Given the description of an element on the screen output the (x, y) to click on. 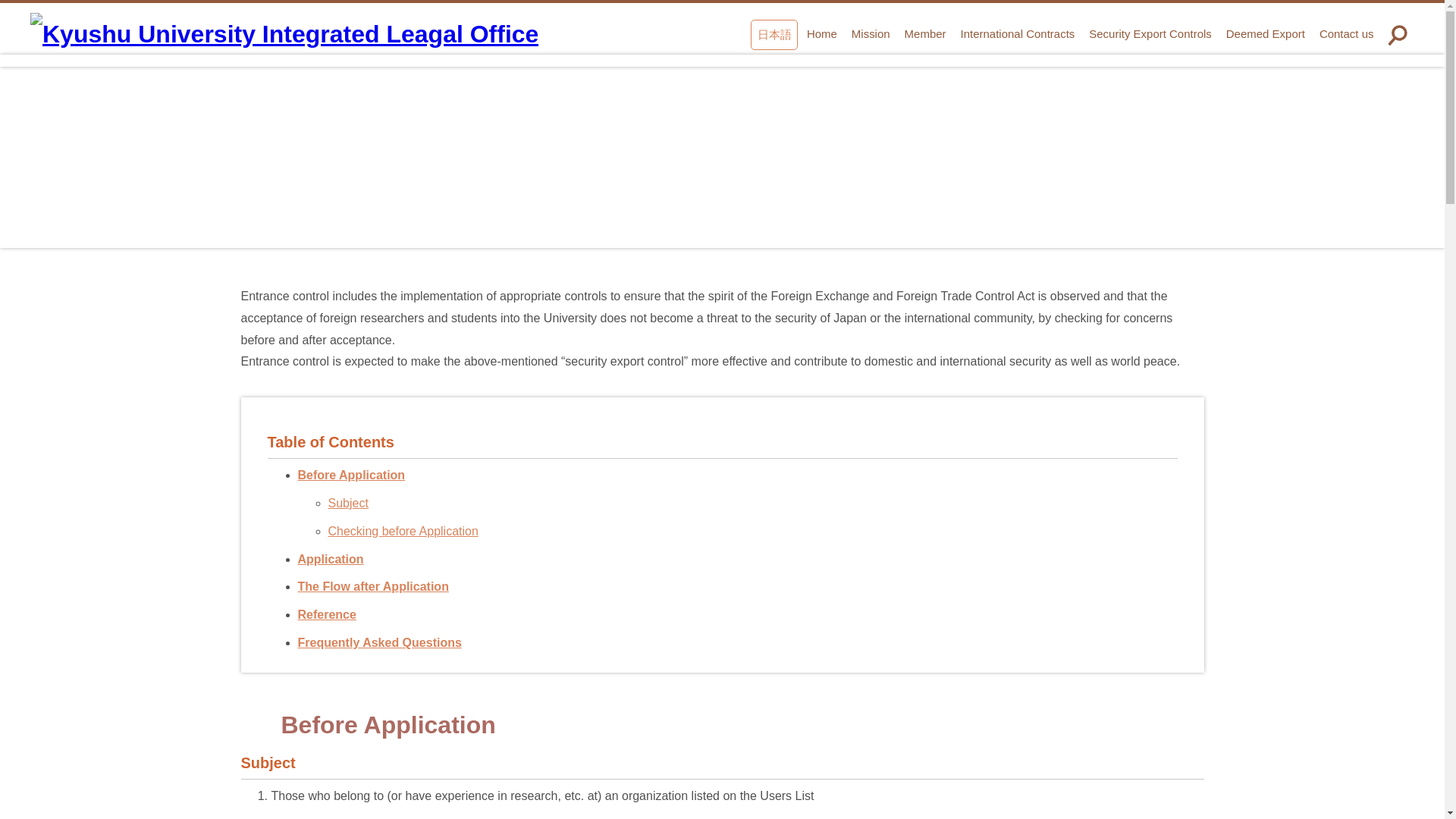
Frequently Asked Questions (379, 642)
Member (925, 34)
The Flow after Application (372, 585)
Security Export Controls (1150, 34)
Reference (326, 614)
Before Application (350, 474)
Contact us (1345, 34)
Deemed Export (1265, 34)
Application (329, 558)
Home (821, 34)
Checking before Application (402, 530)
Mission (870, 34)
Subject (347, 502)
International Contracts (1017, 34)
